Given the description of an element on the screen output the (x, y) to click on. 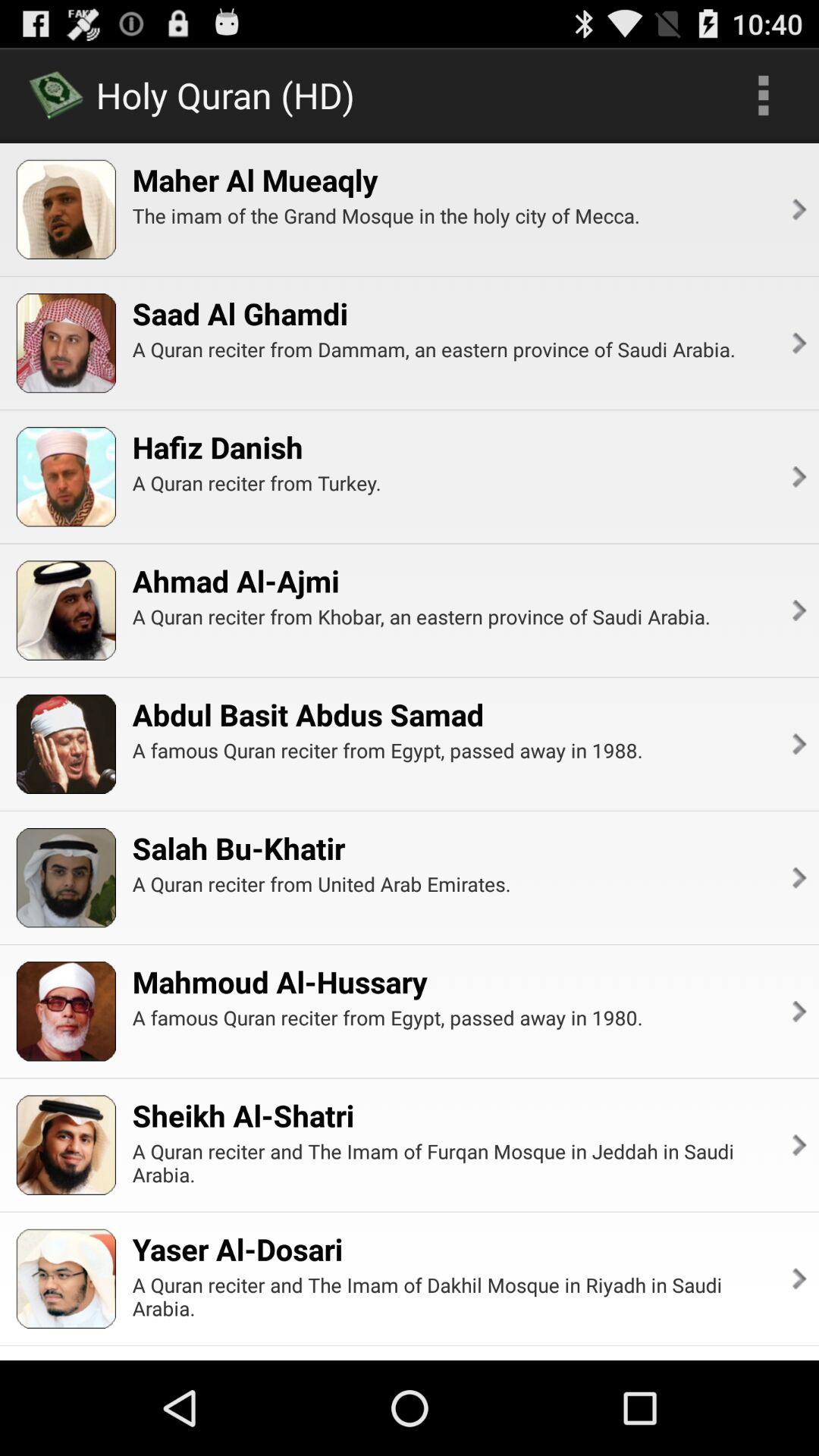
press the icon below a quran reciter icon (797, 476)
